Given the description of an element on the screen output the (x, y) to click on. 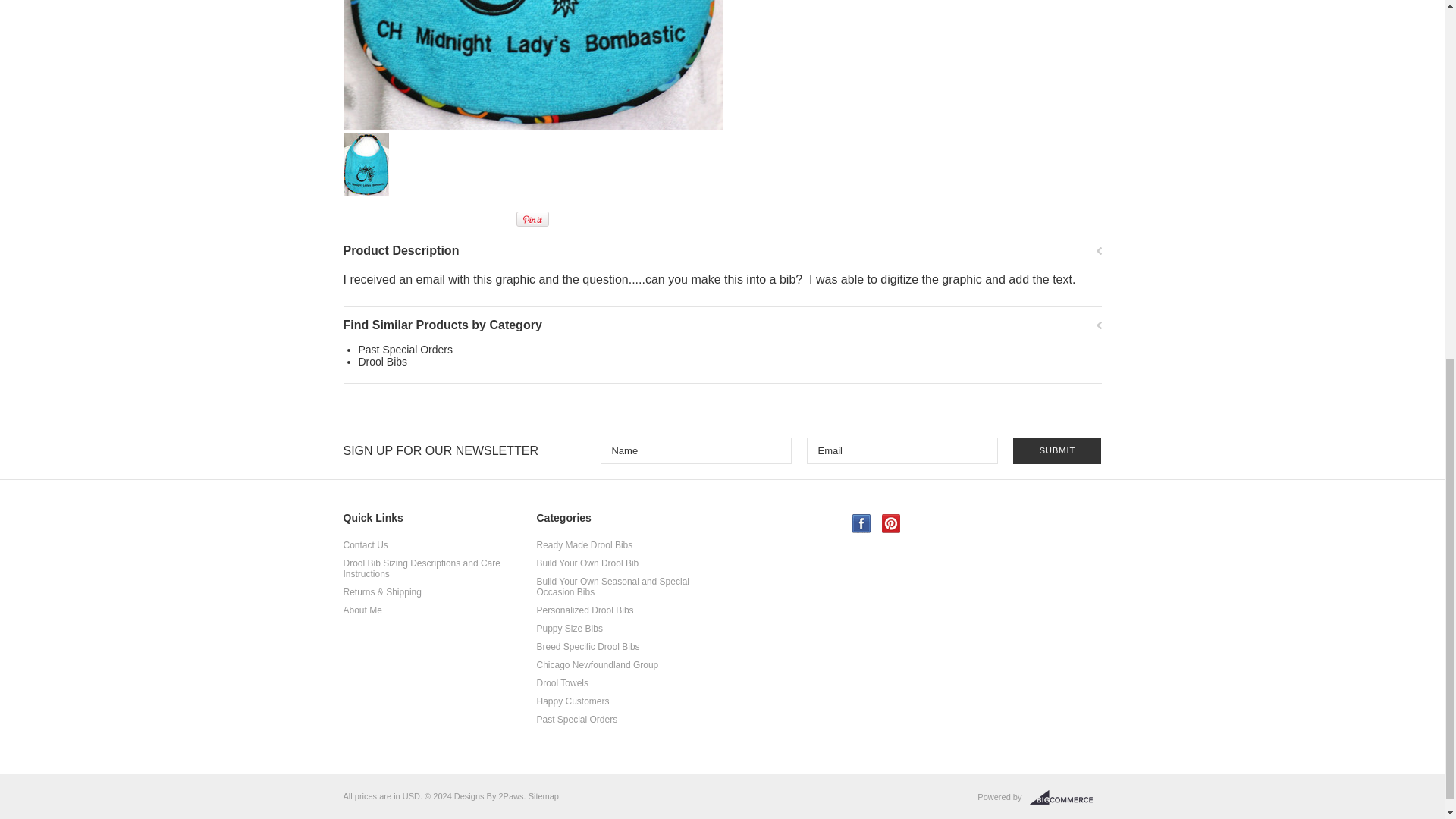
US Dollars (411, 795)
Pinterest (889, 523)
Submit (1056, 450)
Image 1 (532, 65)
Facebook (860, 523)
Email (901, 450)
Name (695, 450)
